Given the description of an element on the screen output the (x, y) to click on. 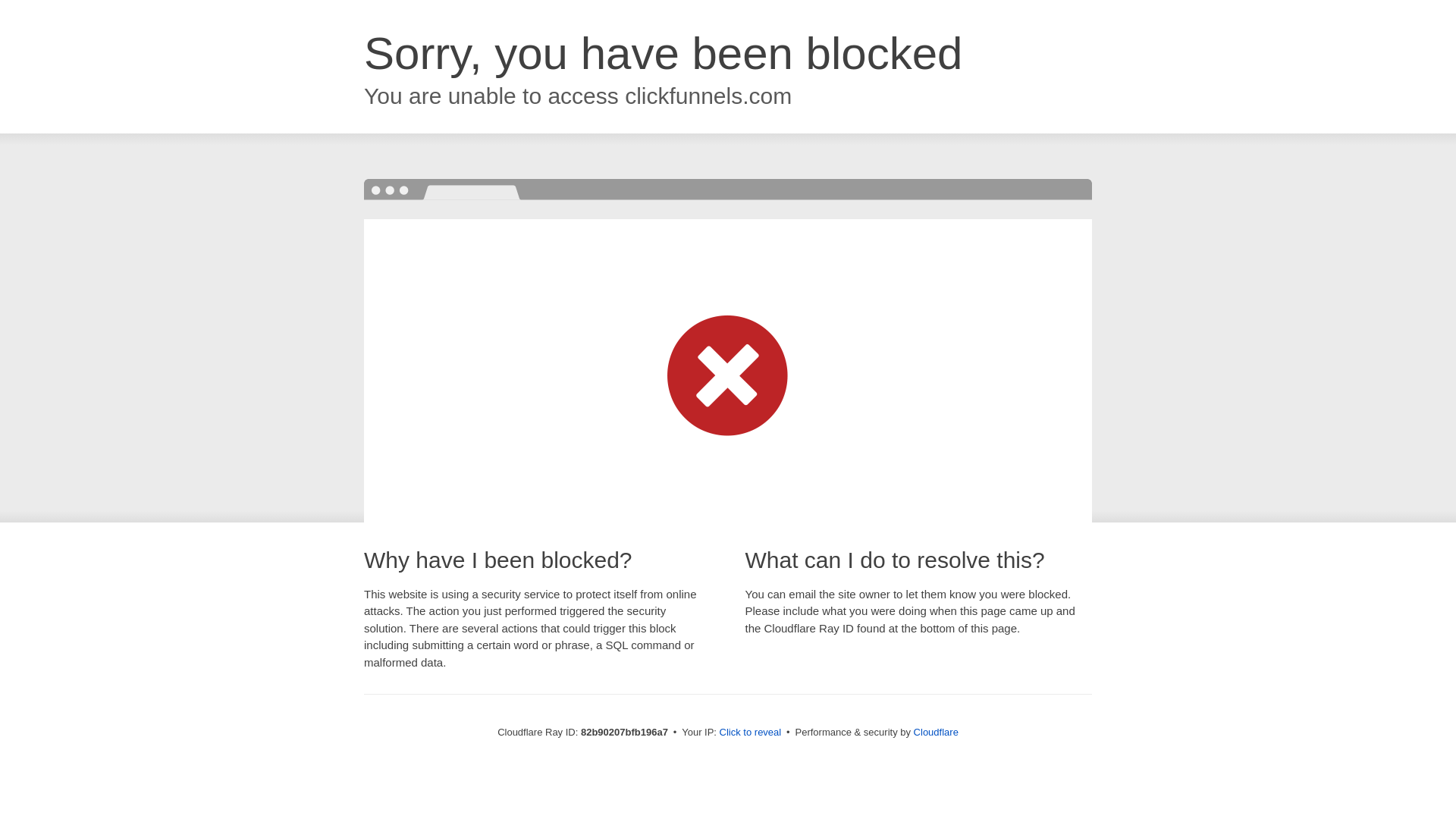
Cloudflare Element type: text (935, 731)
Click to reveal Element type: text (750, 732)
